Given the description of an element on the screen output the (x, y) to click on. 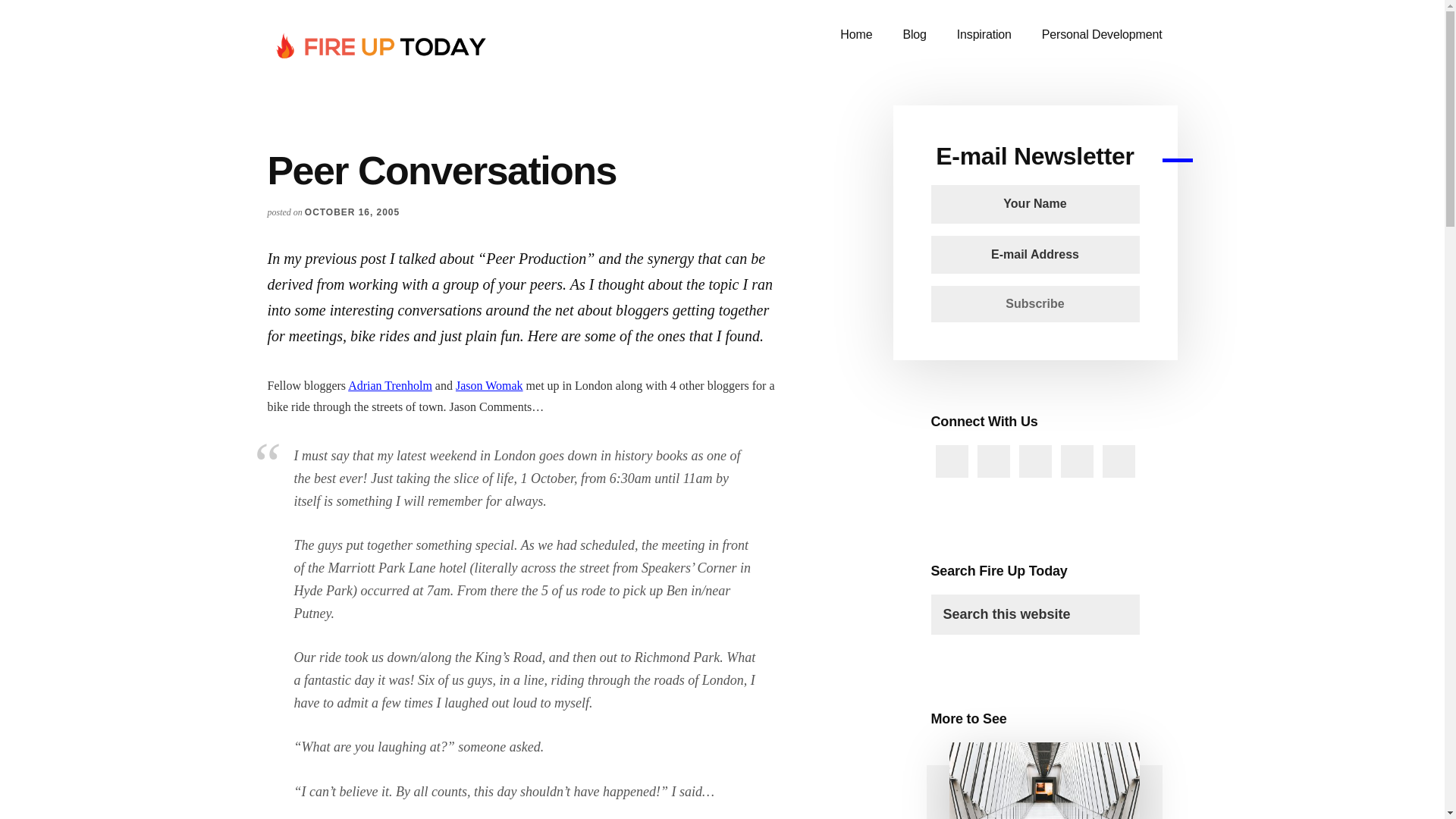
Jason Womak (488, 385)
Home (855, 34)
Personal Development (1101, 34)
Blog (913, 34)
Subscribe (1035, 303)
Subscribe (1035, 303)
Inspiration (984, 34)
Adrian Trenholm (389, 385)
